Given the description of an element on the screen output the (x, y) to click on. 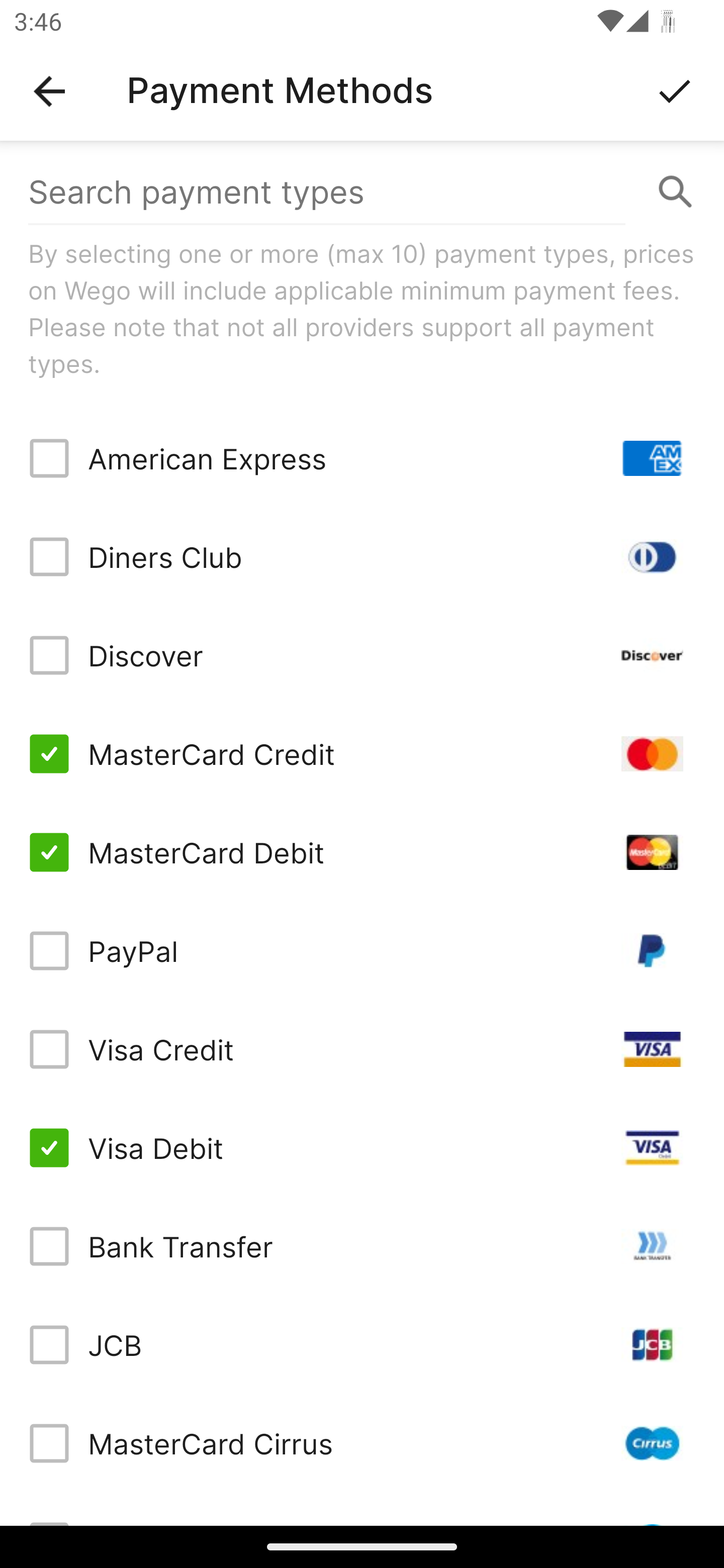
Search payment types  (361, 191)
American Express (362, 458)
Diners Club (362, 557)
Discover (362, 655)
MasterCard Credit (362, 753)
MasterCard Debit (362, 851)
PayPal (362, 950)
Visa Credit (362, 1049)
Visa Debit (362, 1147)
Bank Transfer (362, 1245)
JCB (362, 1344)
MasterCard Cirrus (362, 1442)
